Given the description of an element on the screen output the (x, y) to click on. 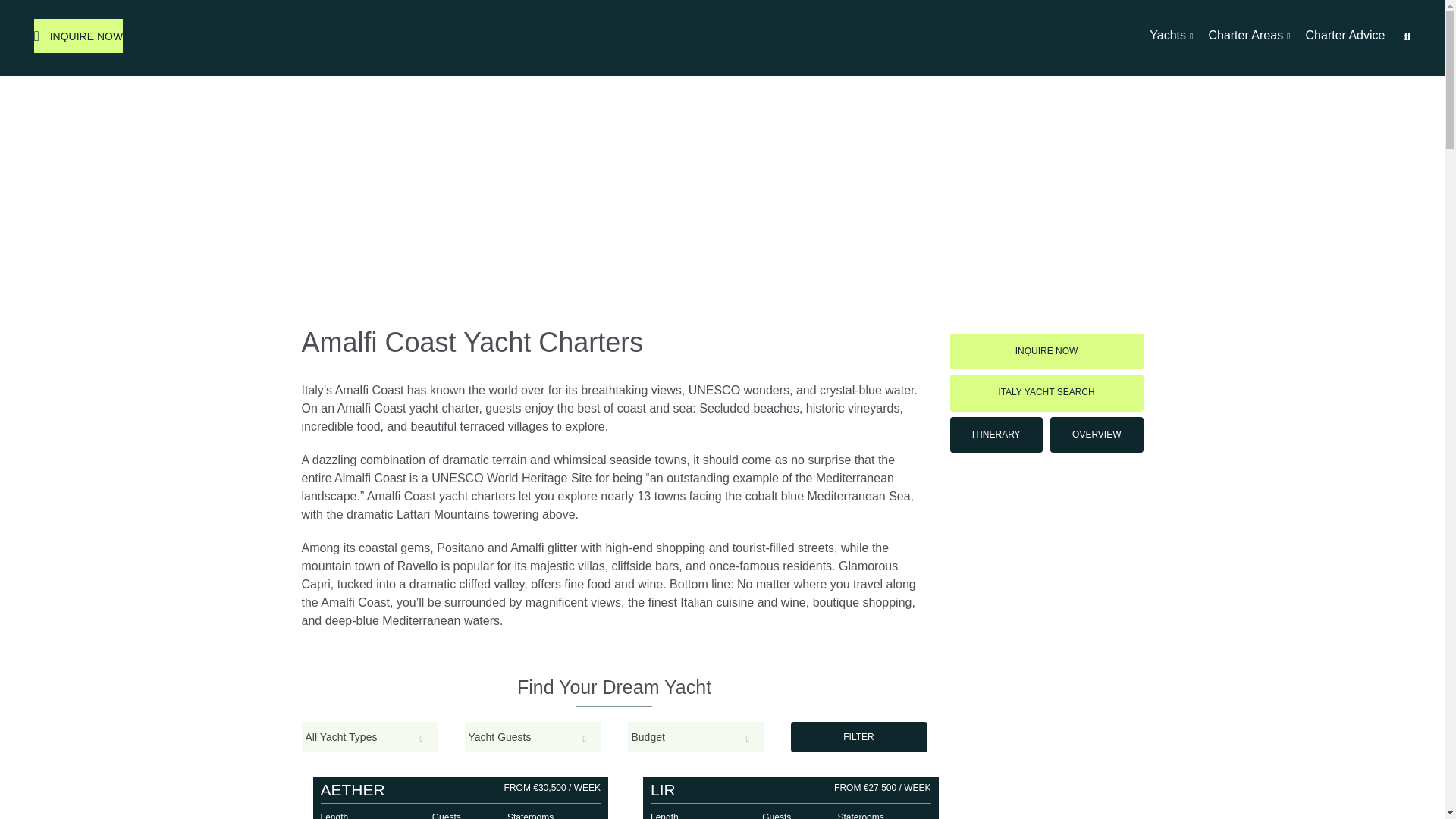
Yachts (1171, 36)
Worldwide Boat (721, 37)
Yachts (1171, 36)
Charter Areas (1249, 36)
INQUIRE NOW (77, 35)
